Given the description of an element on the screen output the (x, y) to click on. 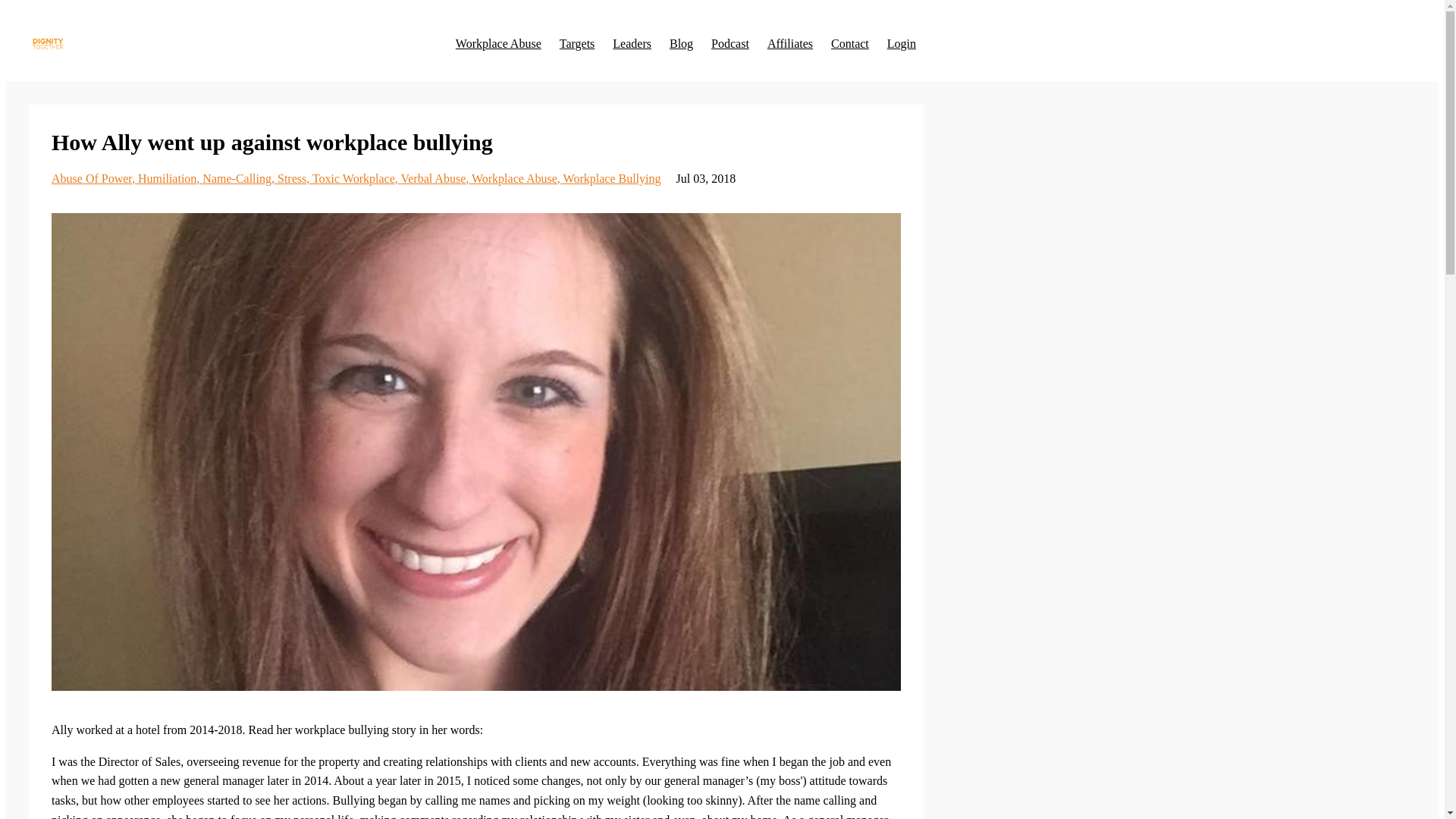
Humiliation (170, 178)
Podcast (730, 43)
Login (900, 43)
Toxic Workplace (357, 178)
Targets (577, 43)
Workplace Bullying (612, 178)
Affiliates (789, 43)
Workplace Abuse (517, 178)
Stress (295, 178)
Abuse Of Power (94, 178)
